Given the description of an element on the screen output the (x, y) to click on. 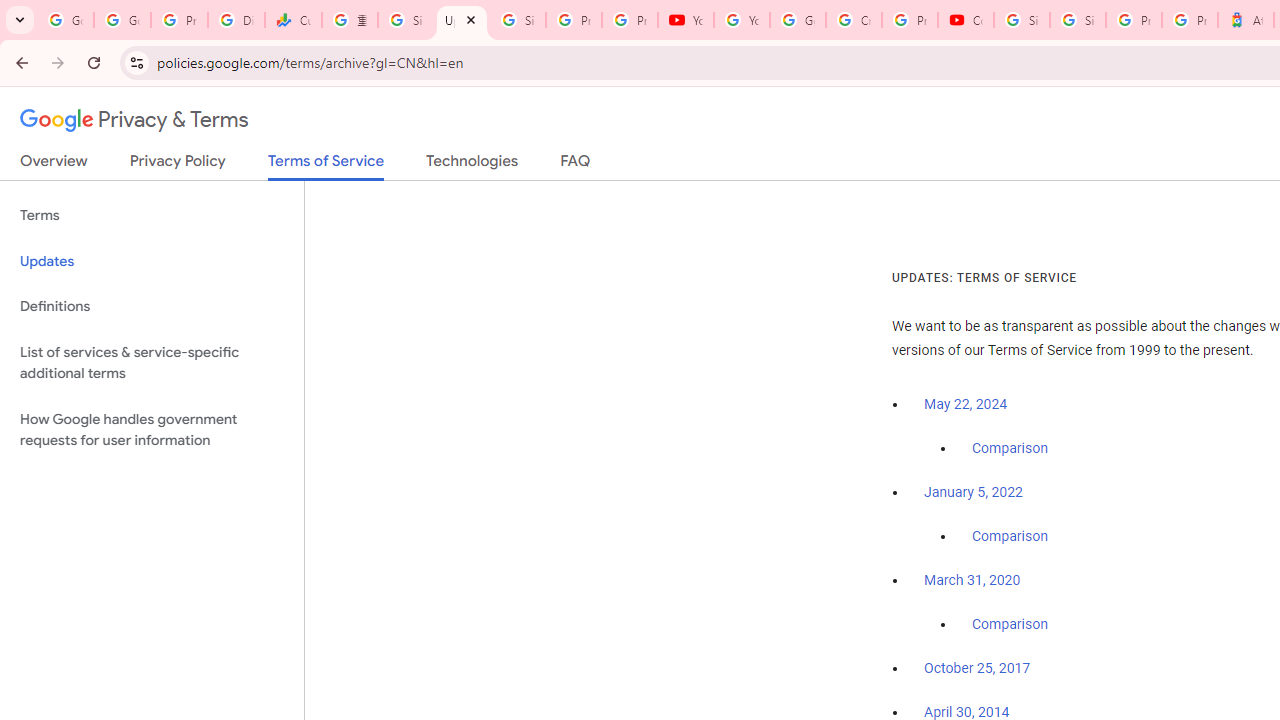
Comparison (1009, 625)
Google Workspace Admin Community (65, 20)
Content Creator Programs & Opportunities - YouTube Creators (966, 20)
Google Account Help (797, 20)
